Given the description of an element on the screen output the (x, y) to click on. 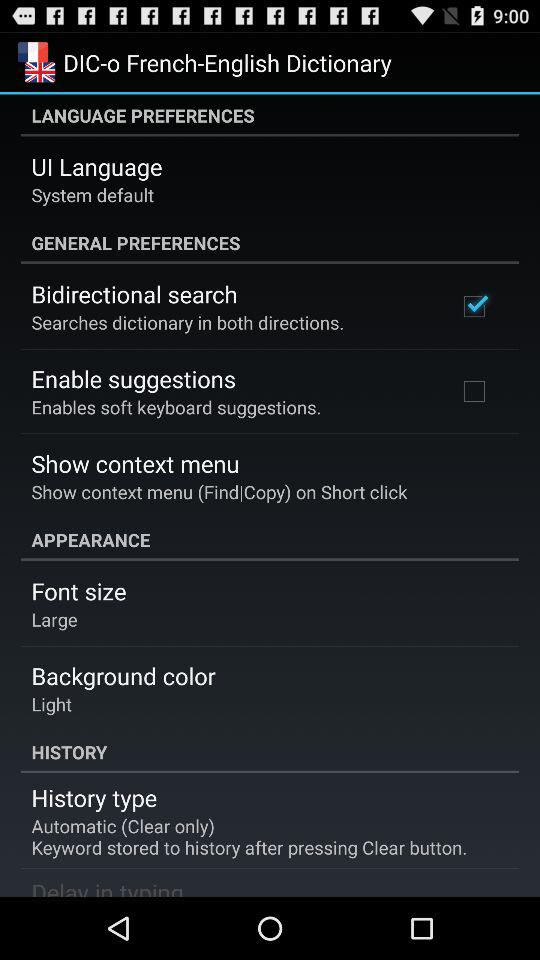
flip until the delay in typing icon (107, 886)
